Given the description of an element on the screen output the (x, y) to click on. 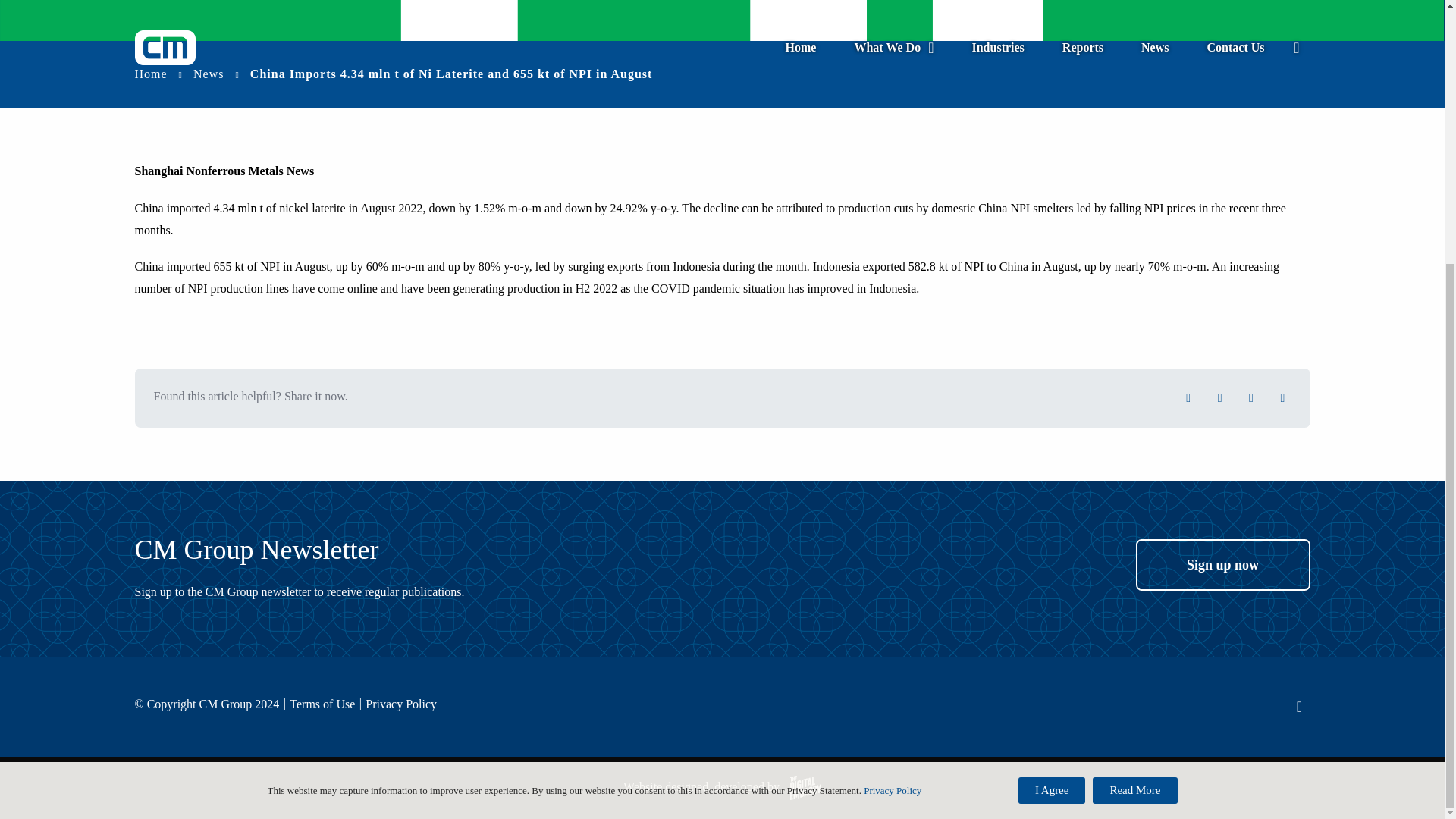
News (208, 73)
Sign up now (1222, 564)
Website designed and developed by The Digital Embassy (722, 405)
Home (151, 73)
Terms of Use (322, 704)
Privacy Policy (400, 704)
